Given the description of an element on the screen output the (x, y) to click on. 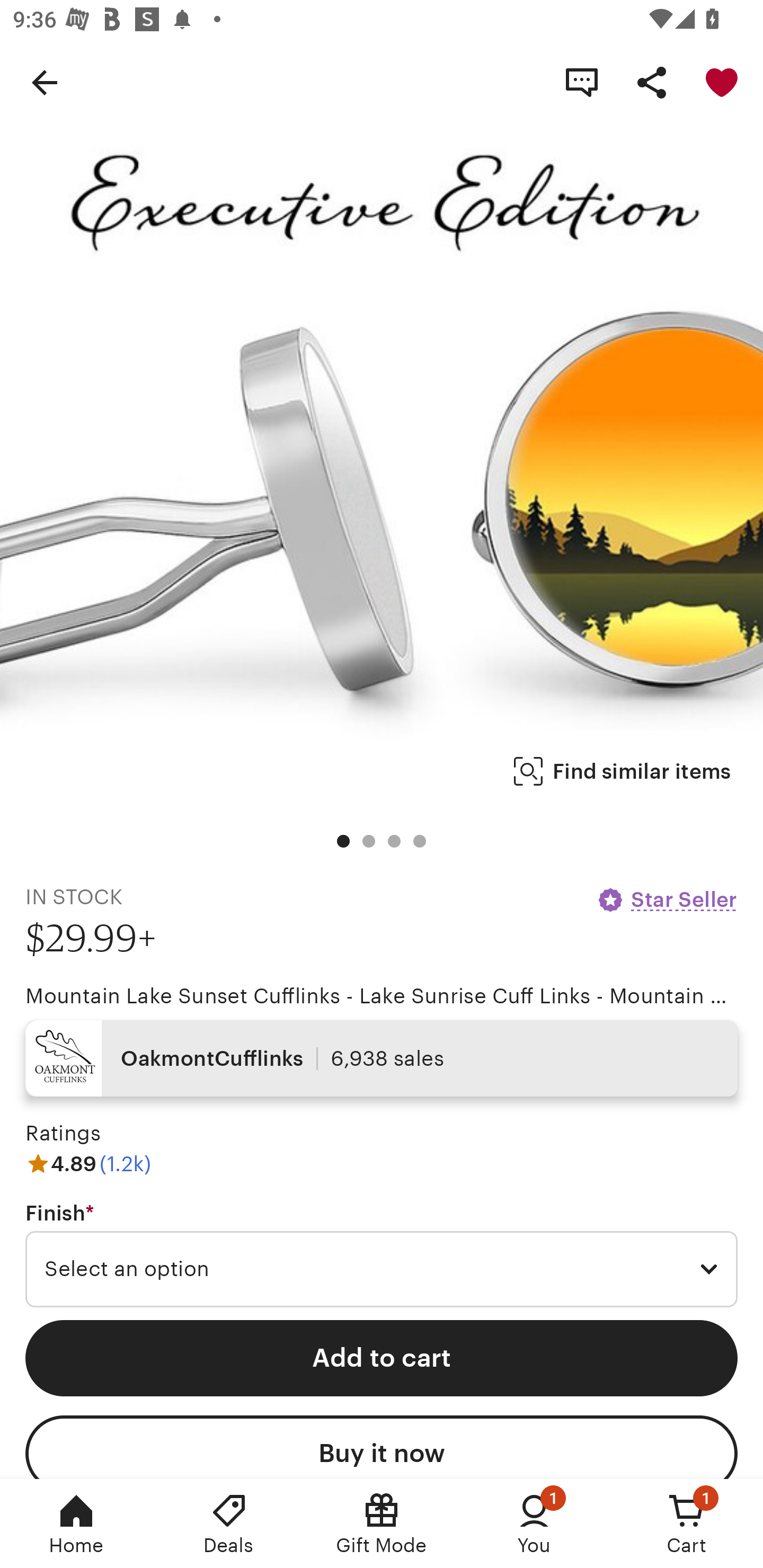
Navigate up (44, 81)
Contact shop (581, 81)
Share (651, 81)
Find similar items (622, 771)
Star Seller (666, 899)
OakmontCufflinks 6,938 sales (381, 1058)
Ratings (62, 1133)
4.89 (1.2k) (88, 1163)
Finish * Required Select an option (381, 1254)
Select an option (381, 1268)
Add to cart (381, 1358)
Buy it now (381, 1446)
Deals (228, 1523)
Gift Mode (381, 1523)
You, 1 new notification You (533, 1523)
Cart, 1 new notification Cart (686, 1523)
